Given the description of an element on the screen output the (x, y) to click on. 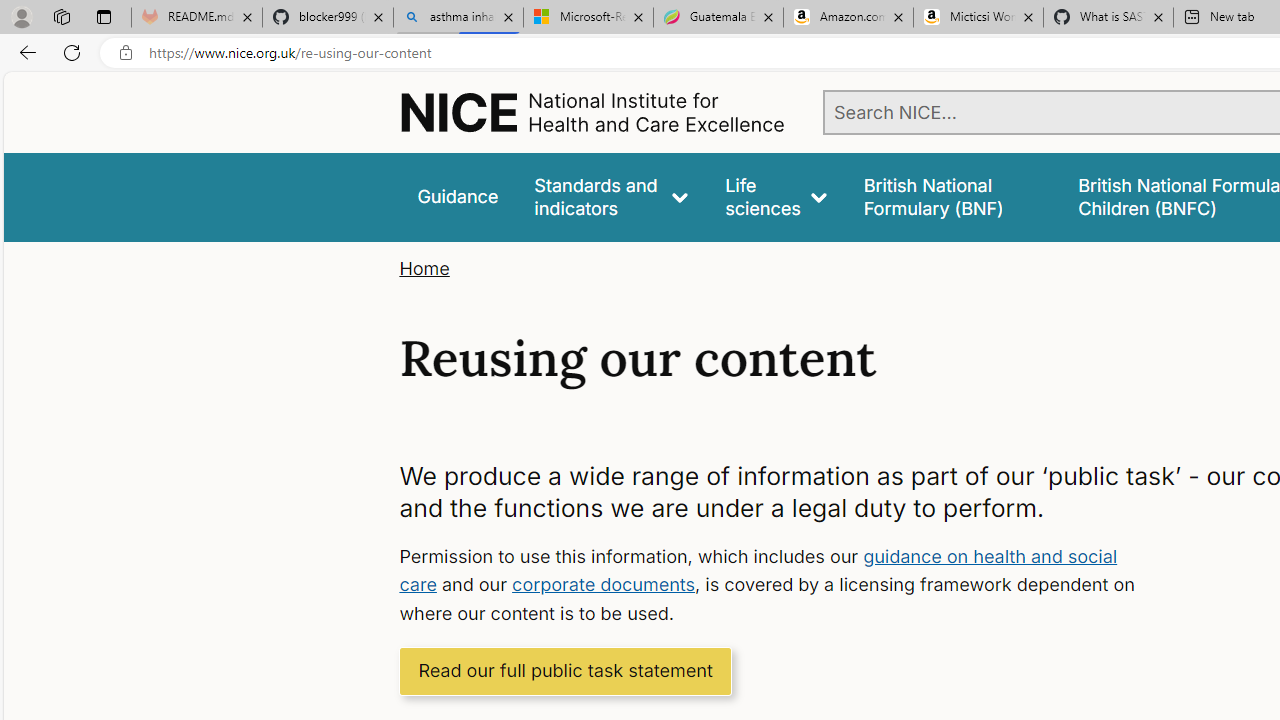
asthma inhaler - Search (458, 17)
guidance on health and social care (758, 570)
false (952, 196)
